Given the description of an element on the screen output the (x, y) to click on. 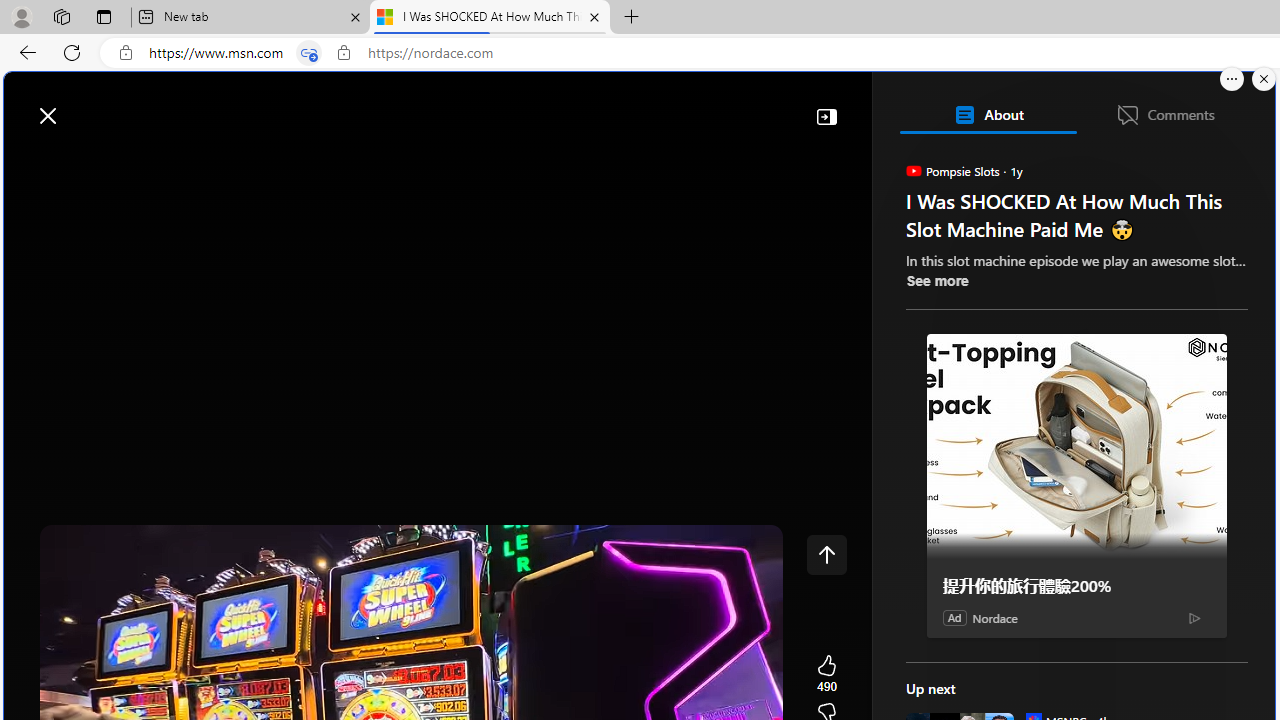
The Associated Press (974, 645)
About (987, 114)
Skip to footer (82, 105)
